Given the description of an element on the screen output the (x, y) to click on. 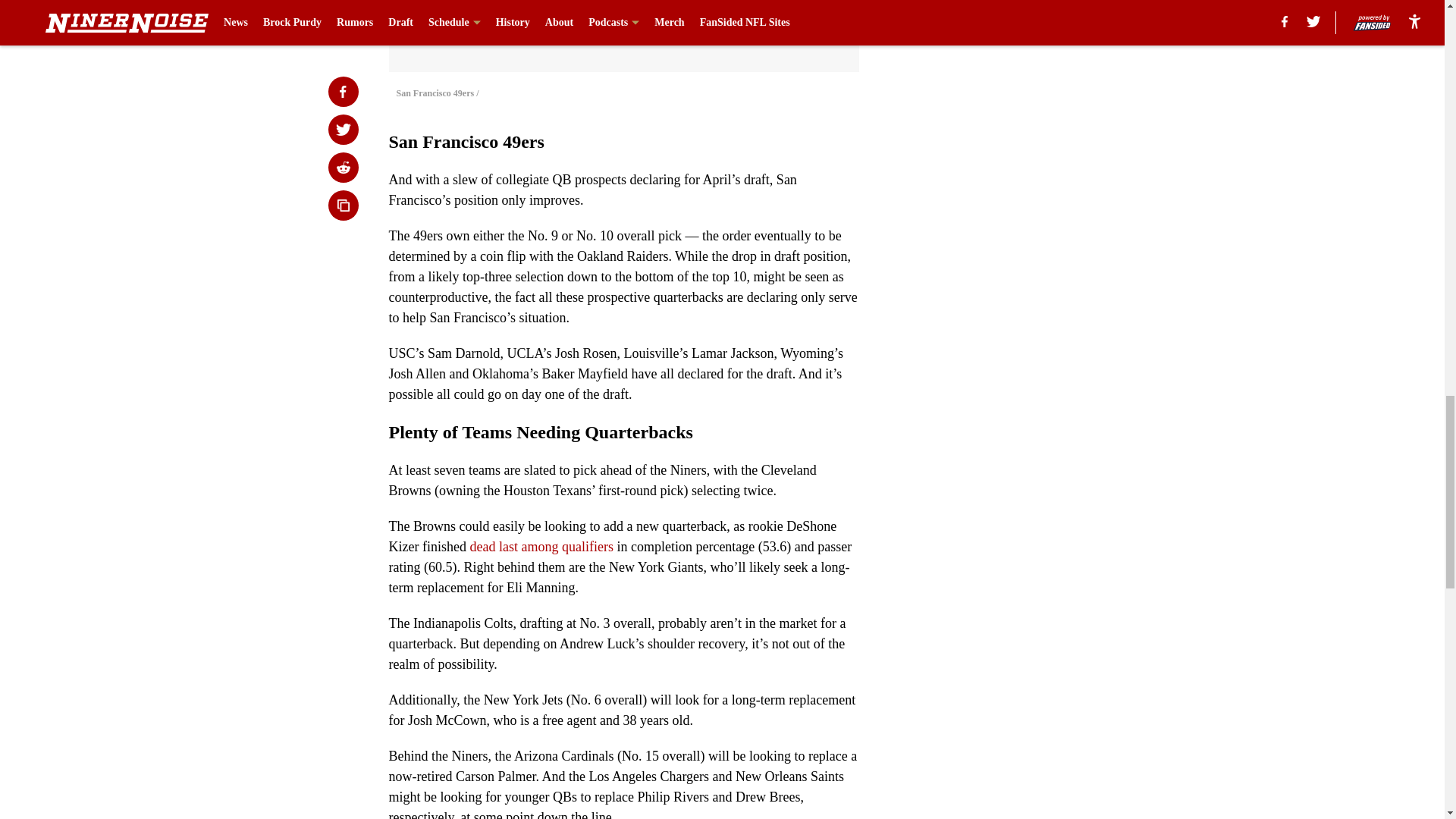
dead last among qualifiers (540, 546)
